Given the description of an element on the screen output the (x, y) to click on. 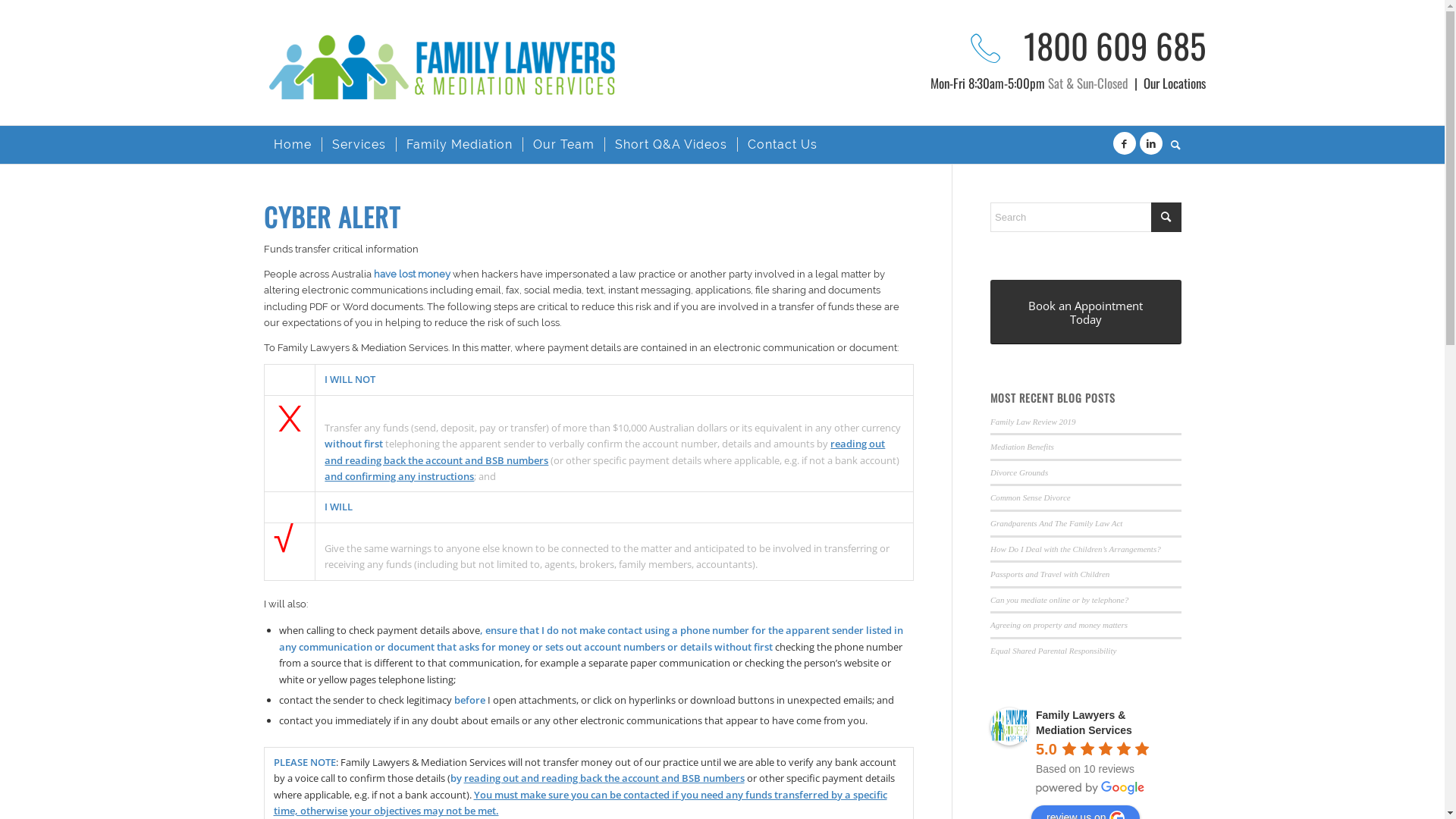
Equal Shared Parental Responsibility Element type: text (1053, 650)
Mediation Benefits Element type: text (1022, 446)
Family Law Review 2019 Element type: text (1033, 421)
Agreeing on property and money matters Element type: text (1058, 624)
Family Lawyers & Mediation Services Element type: hover (1009, 726)
Services Element type: text (358, 144)
powered by Google Element type: hover (1090, 787)
Common Sense Divorce Element type: text (1030, 497)
Can you mediate online or by telephone? Element type: text (1059, 599)
LinkedIn Element type: hover (1150, 142)
Short Q&A Videos Element type: text (669, 144)
Book an Appointment Today Element type: text (1085, 311)
Family Mediation Element type: text (458, 144)
Divorce Grounds Element type: text (1019, 471)
Our Team Element type: text (562, 144)
Facebook Element type: hover (1124, 142)
Grandparents And The Family Law Act Element type: text (1056, 522)
Family Lawyers & Mediation Services Element type: text (1083, 722)
Our Locations Element type: text (1174, 82)
Contact Us Element type: text (782, 144)
Passports and Travel with Children Element type: text (1049, 573)
Home Element type: text (292, 144)
